Given the description of an element on the screen output the (x, y) to click on. 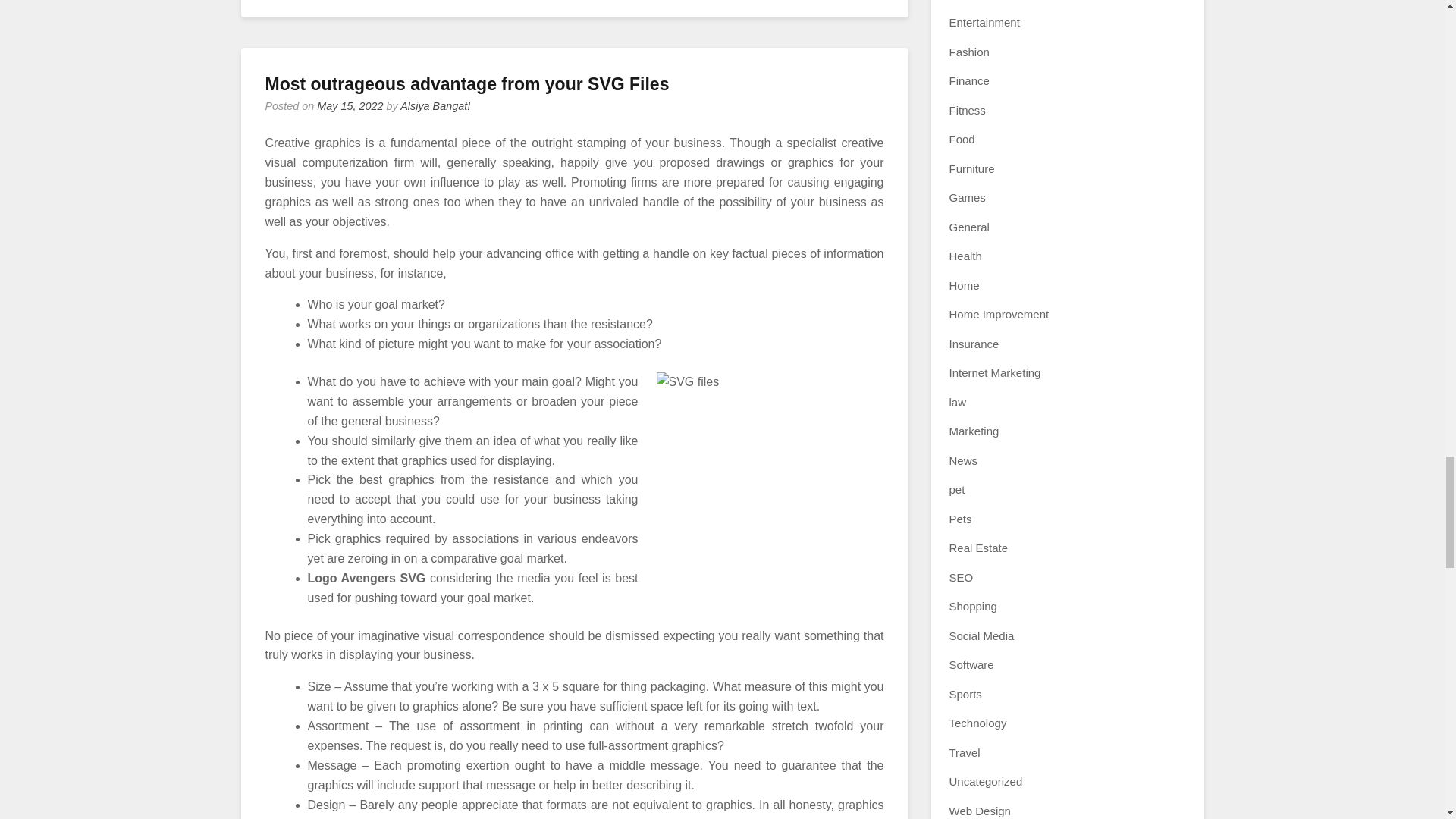
Most outrageous advantage from your SVG Files (466, 84)
Alsiya Bangat! (435, 105)
May 15, 2022 (349, 105)
